Given the description of an element on the screen output the (x, y) to click on. 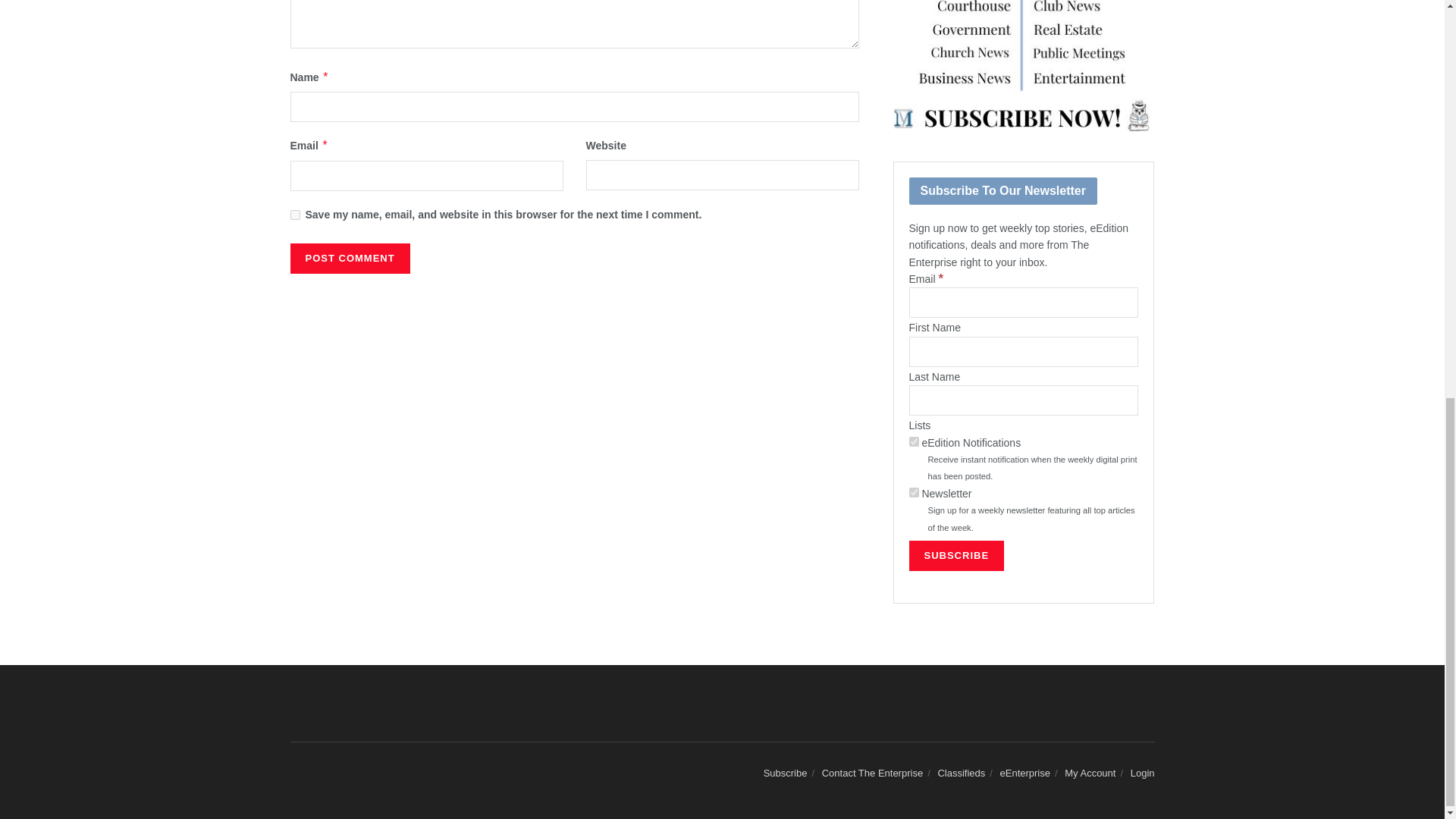
yes (294, 214)
Subscribe (956, 555)
3 (913, 492)
Post Comment (349, 258)
2 (913, 441)
